Given the description of an element on the screen output the (x, y) to click on. 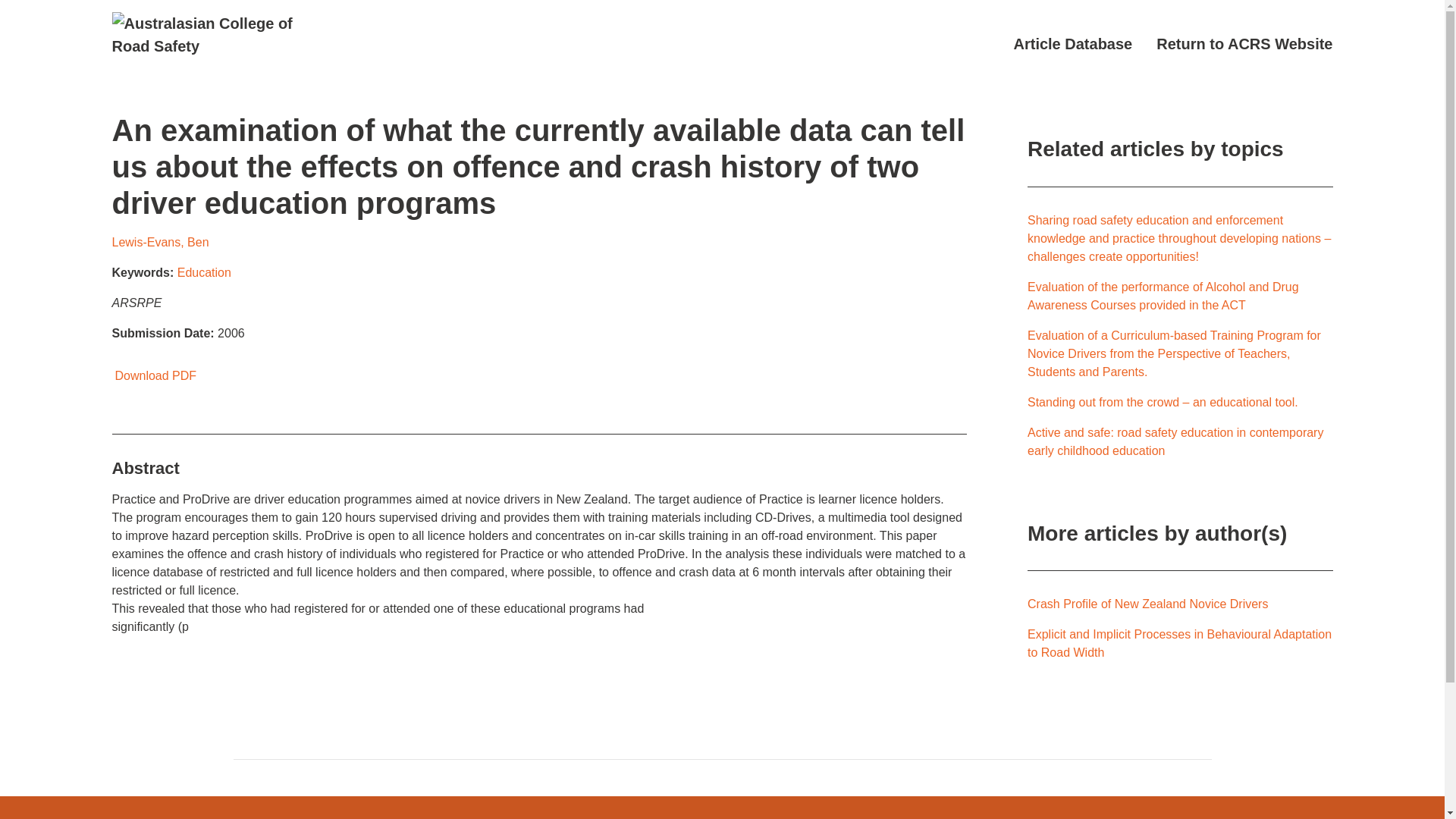
Article Database (1072, 43)
Lewis-Evans, Ben (160, 241)
Crash Profile of New Zealand Novice Drivers (1147, 603)
Education (204, 272)
Return to ACRS Website (1244, 43)
Download PDF (154, 375)
